Given the description of an element on the screen output the (x, y) to click on. 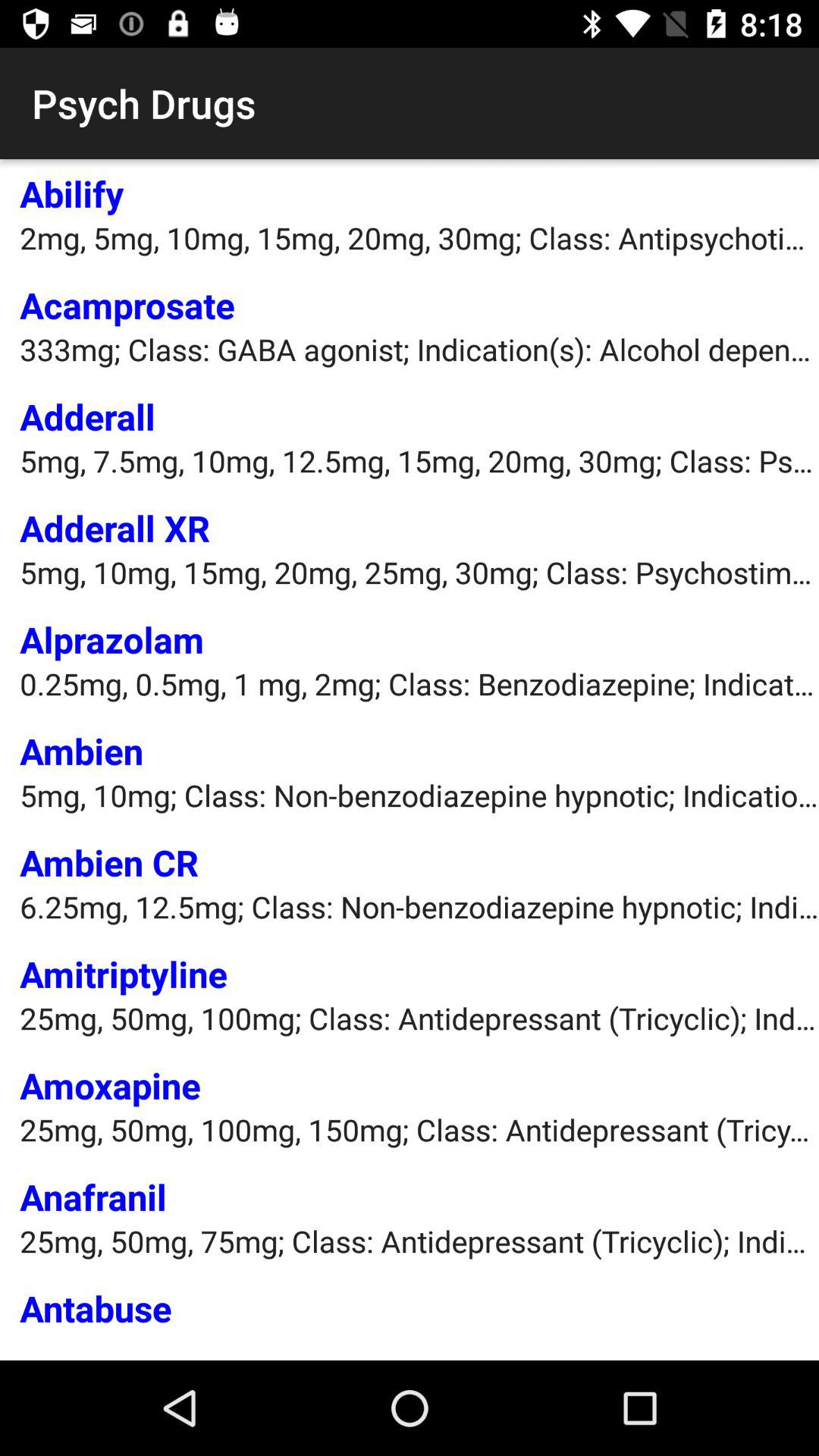
launch the app below 25mg 50mg 100mg (92, 1196)
